Given the description of an element on the screen output the (x, y) to click on. 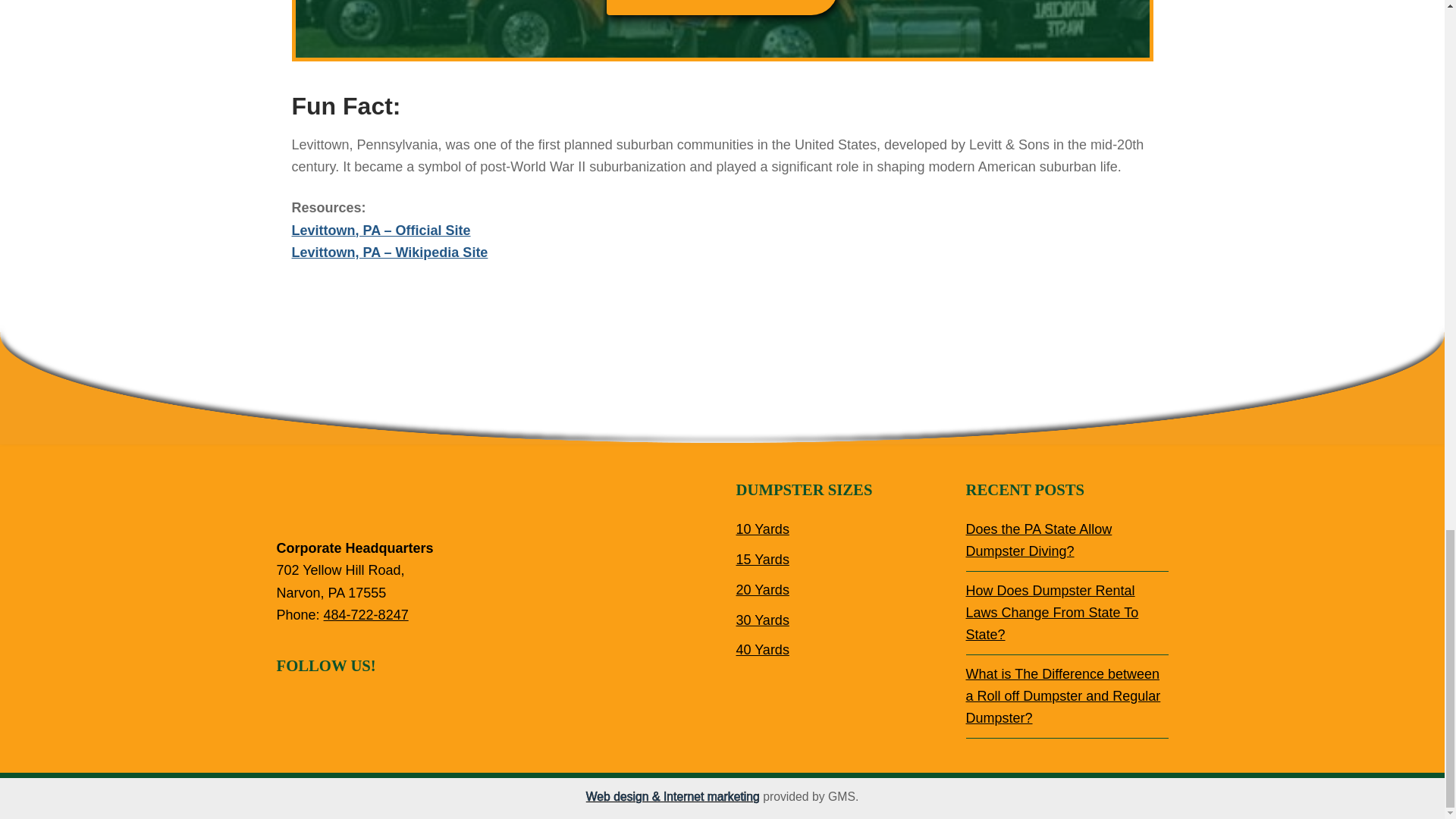
Follow Us on YouTube (447, 705)
Follow Us on Instagram (351, 705)
15 Yards (762, 559)
10 Yards (762, 529)
Follow Us on Yelp (415, 705)
30 Yards (762, 620)
40 Yards (762, 649)
20 Yards (762, 589)
Follow Us on Twitter (319, 705)
Follow Us on LinkedIn (383, 705)
Follow Us on Facebook (287, 705)
484-722-8247 (366, 614)
Contact Us (722, 7)
